Given the description of an element on the screen output the (x, y) to click on. 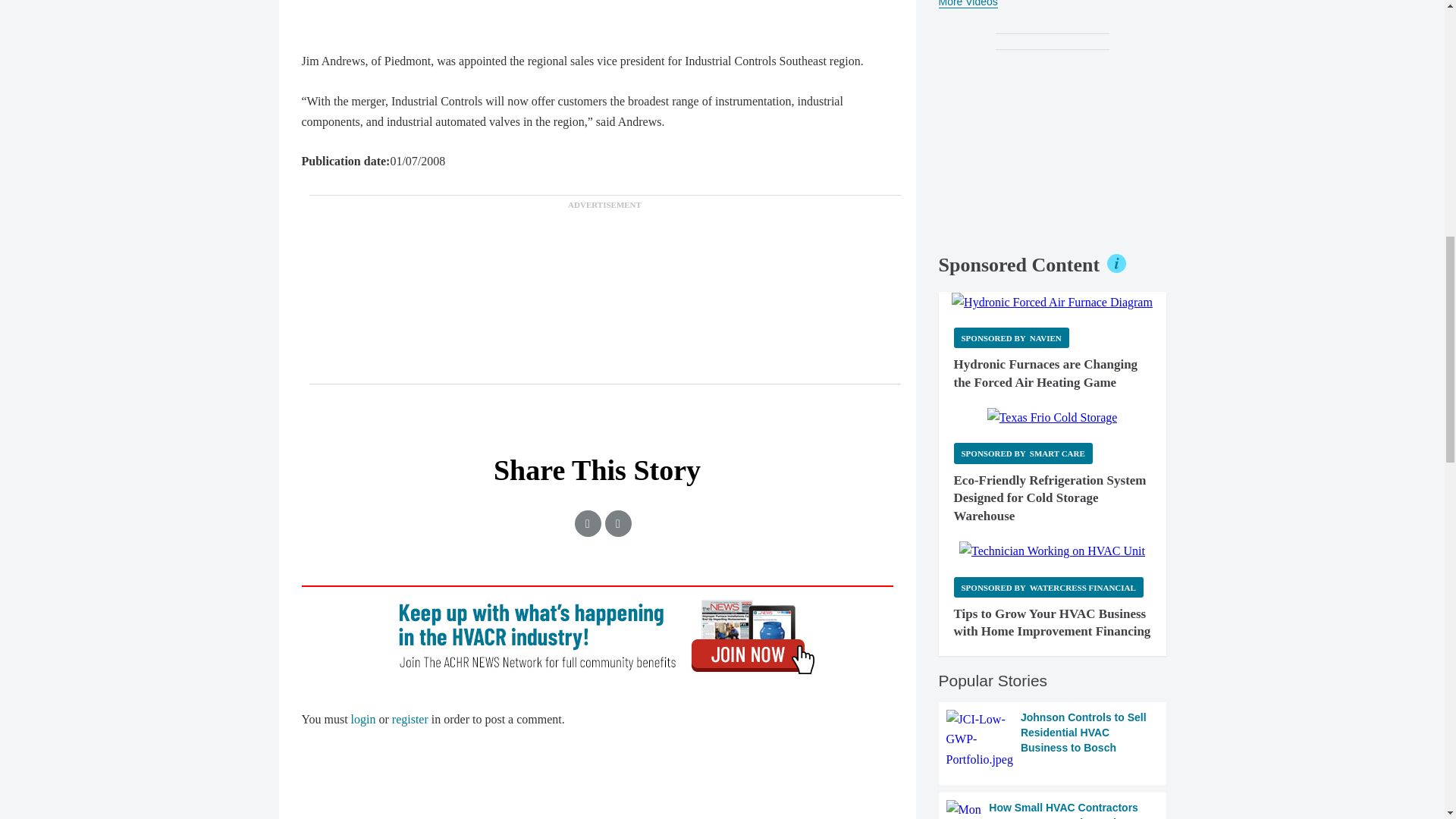
Johnson Controls to Sell Residential HVAC Business to Bosch (1052, 739)
Sponsored by Navien (1010, 337)
Hydronic Forced Air Furnace Diagram (1052, 302)
Sponsored by Watercress Financial (1047, 586)
Technician Working on HVAC Unit (1051, 551)
Sponsored by Smart Care (1023, 453)
Texas Frio Cold Storage (1052, 417)
